Given the description of an element on the screen output the (x, y) to click on. 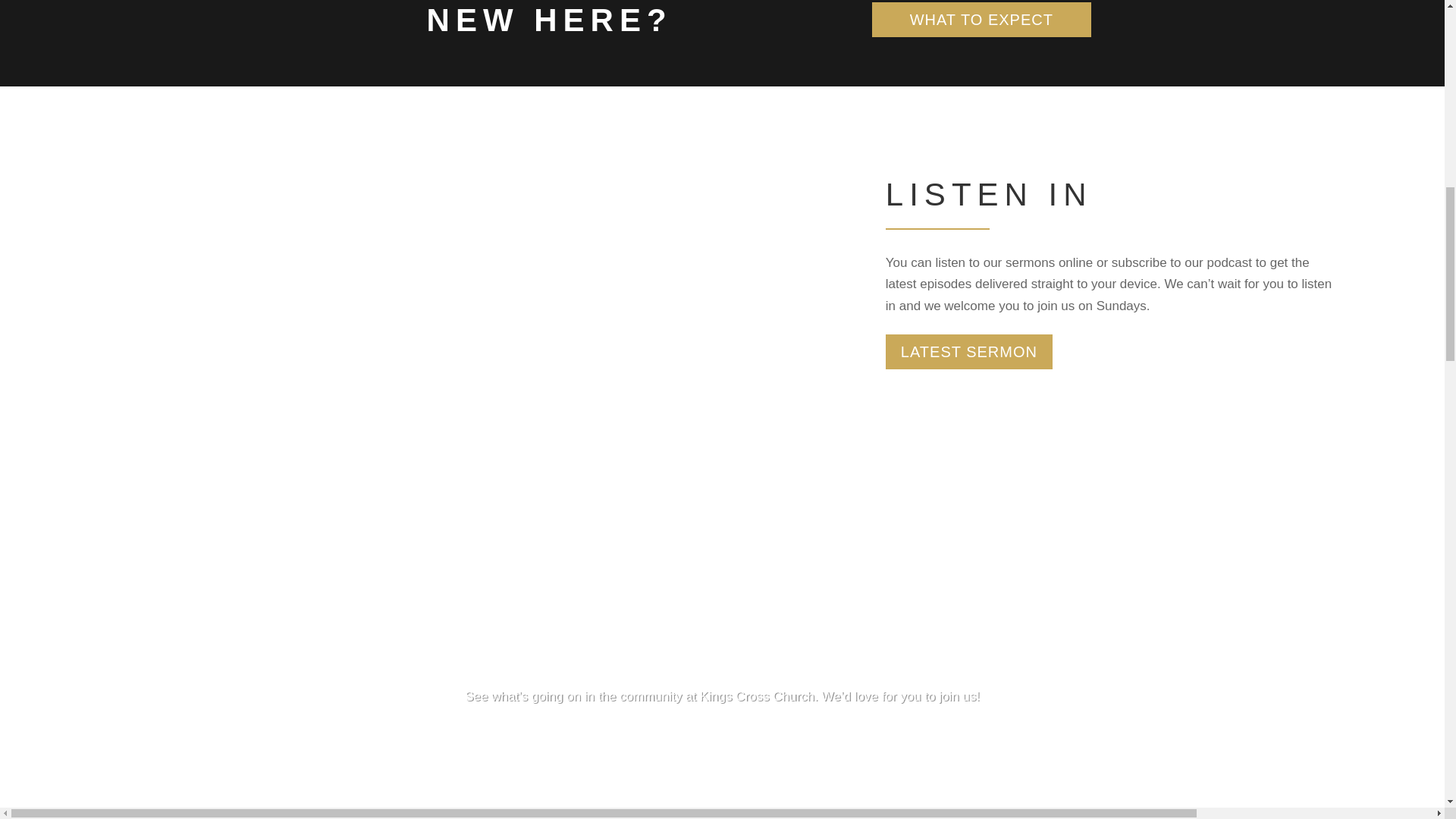
LATEST SERMON (968, 351)
WHAT TO EXPECT (981, 19)
